Given the description of an element on the screen output the (x, y) to click on. 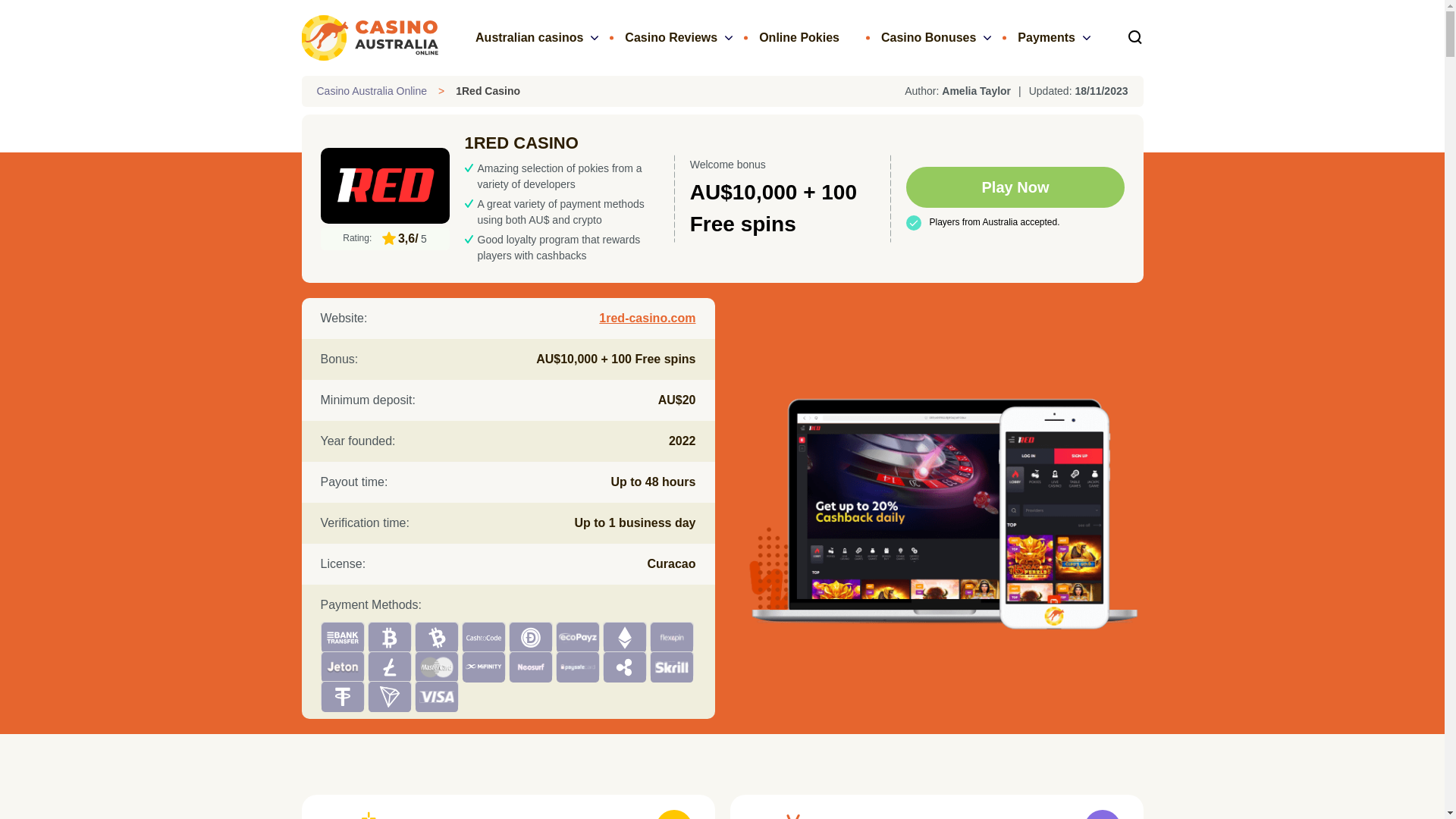
Online Pokies (799, 37)
Australian casinos (529, 37)
Payments (1046, 37)
Go to Casino Australia Online. (372, 91)
Casino Reviews (670, 37)
Casino Bonuses (927, 37)
